Given the description of an element on the screen output the (x, y) to click on. 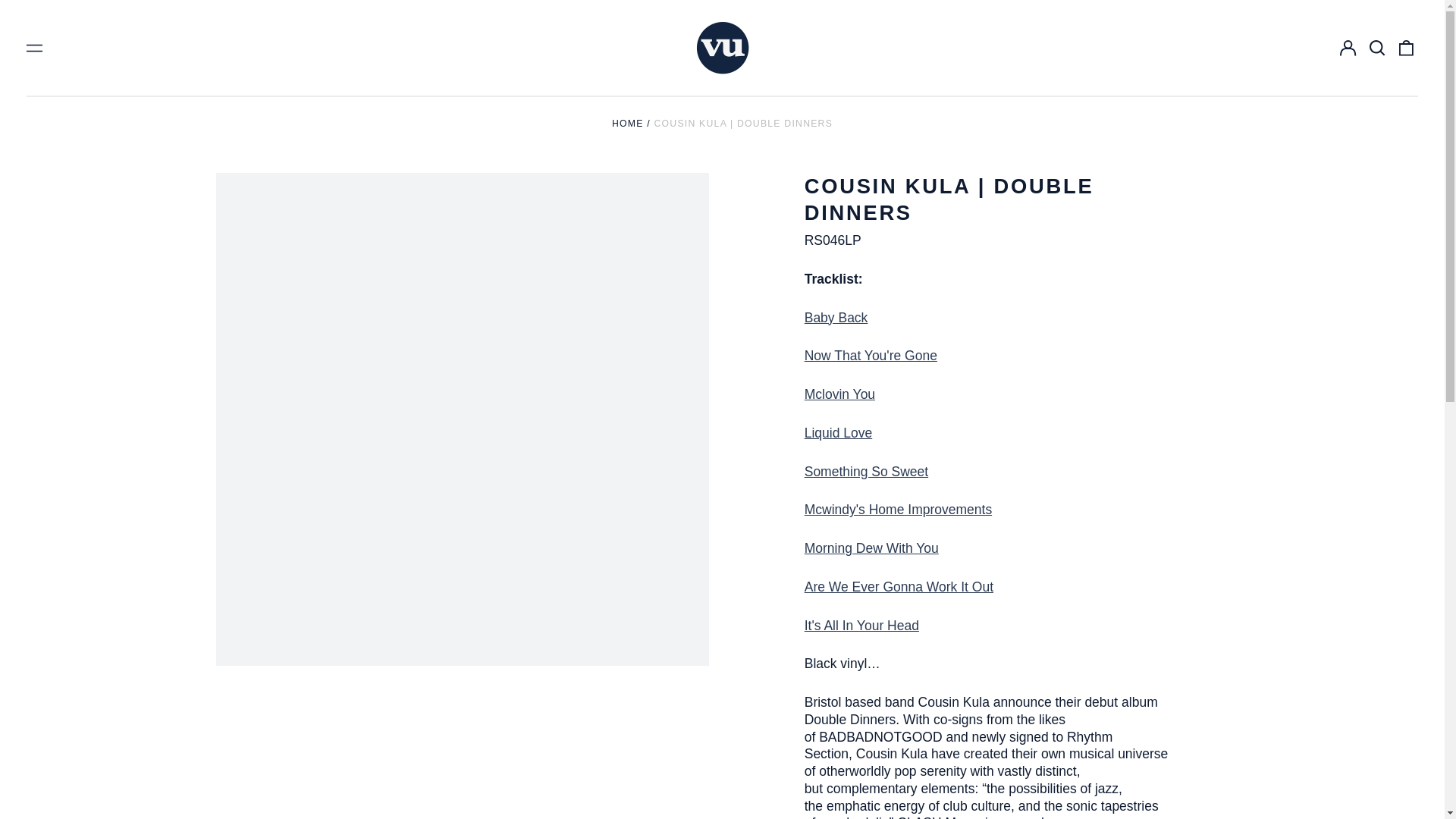
Mclovin You (840, 394)
Mcwindy's Home Improvements (898, 509)
Search our site (1377, 47)
0 items (1405, 47)
Home (627, 122)
Log in (1347, 47)
Morning Dew With You (872, 548)
Menu (34, 47)
Liquid Love (838, 432)
Something So Sweet (866, 471)
